Given the description of an element on the screen output the (x, y) to click on. 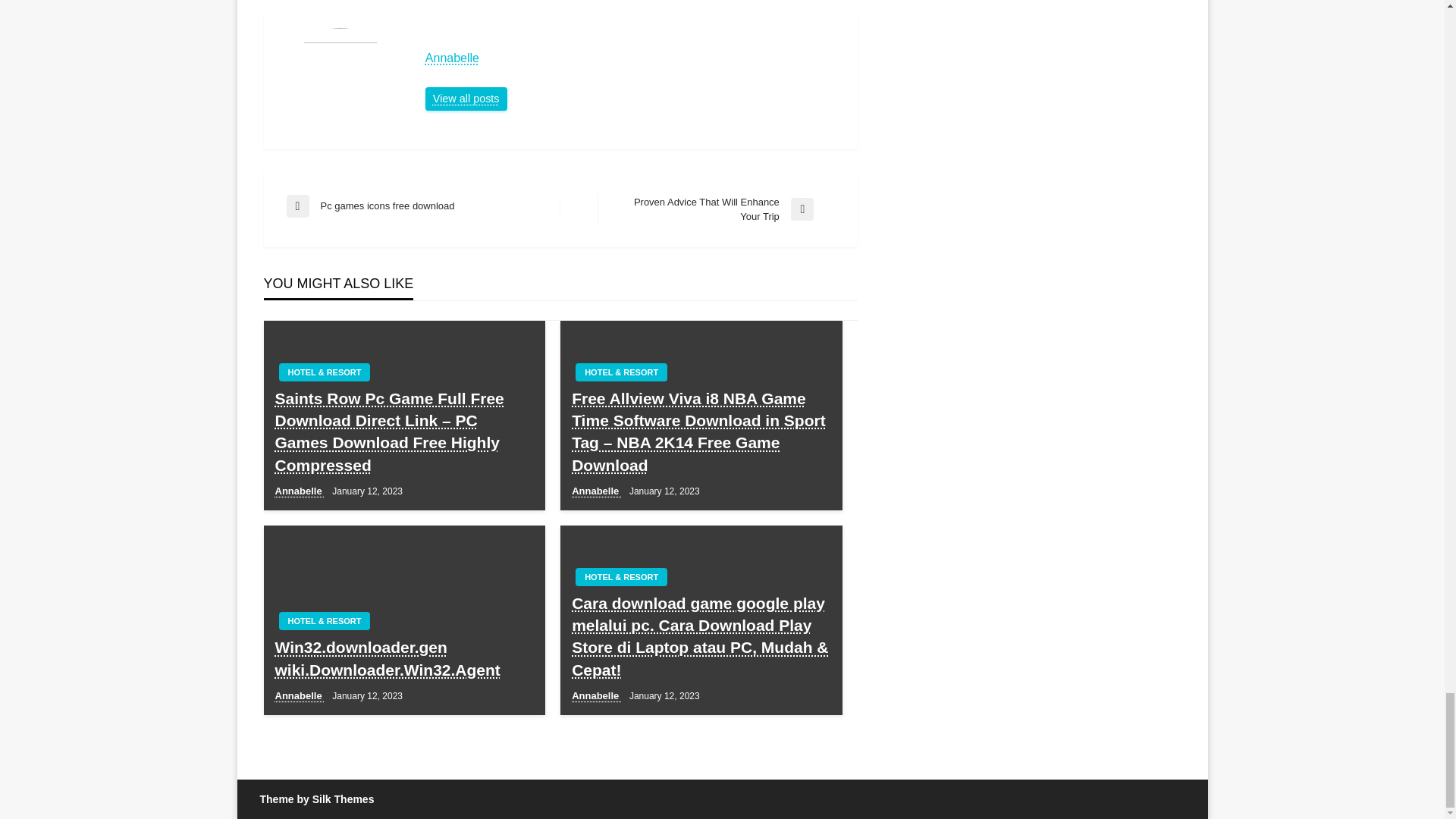
Annabelle (596, 490)
Annabelle (465, 98)
View all posts (465, 98)
Annabelle (423, 205)
Win32.downloader.gen wiki.Downloader.Win32.Agent (715, 209)
Annabelle (299, 490)
Annabelle (404, 658)
Annabelle (634, 58)
